Given the description of an element on the screen output the (x, y) to click on. 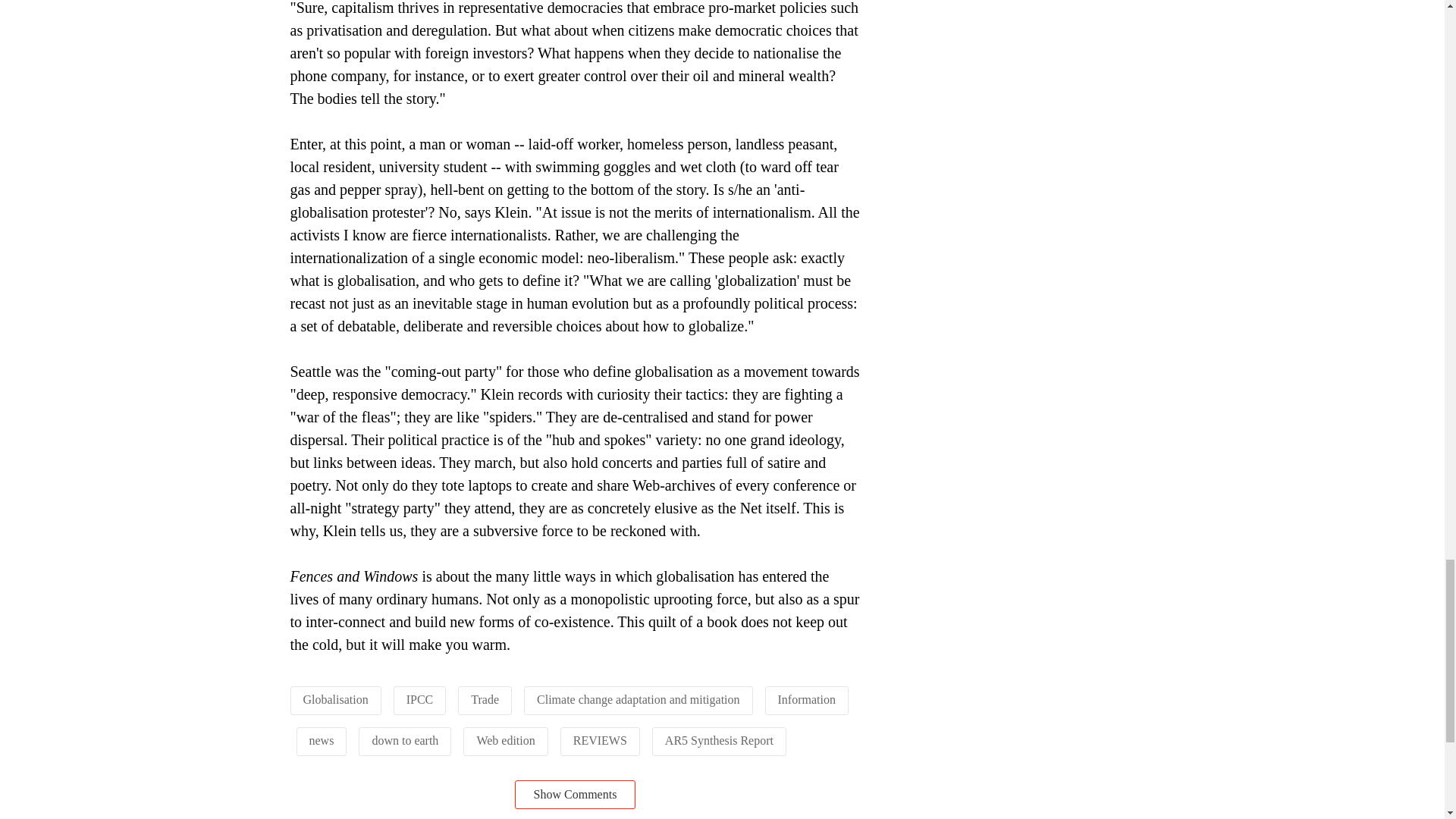
Globalisation (335, 698)
Information (806, 698)
Climate change adaptation and mitigation (638, 698)
Trade (484, 698)
IPCC (419, 698)
